Given the description of an element on the screen output the (x, y) to click on. 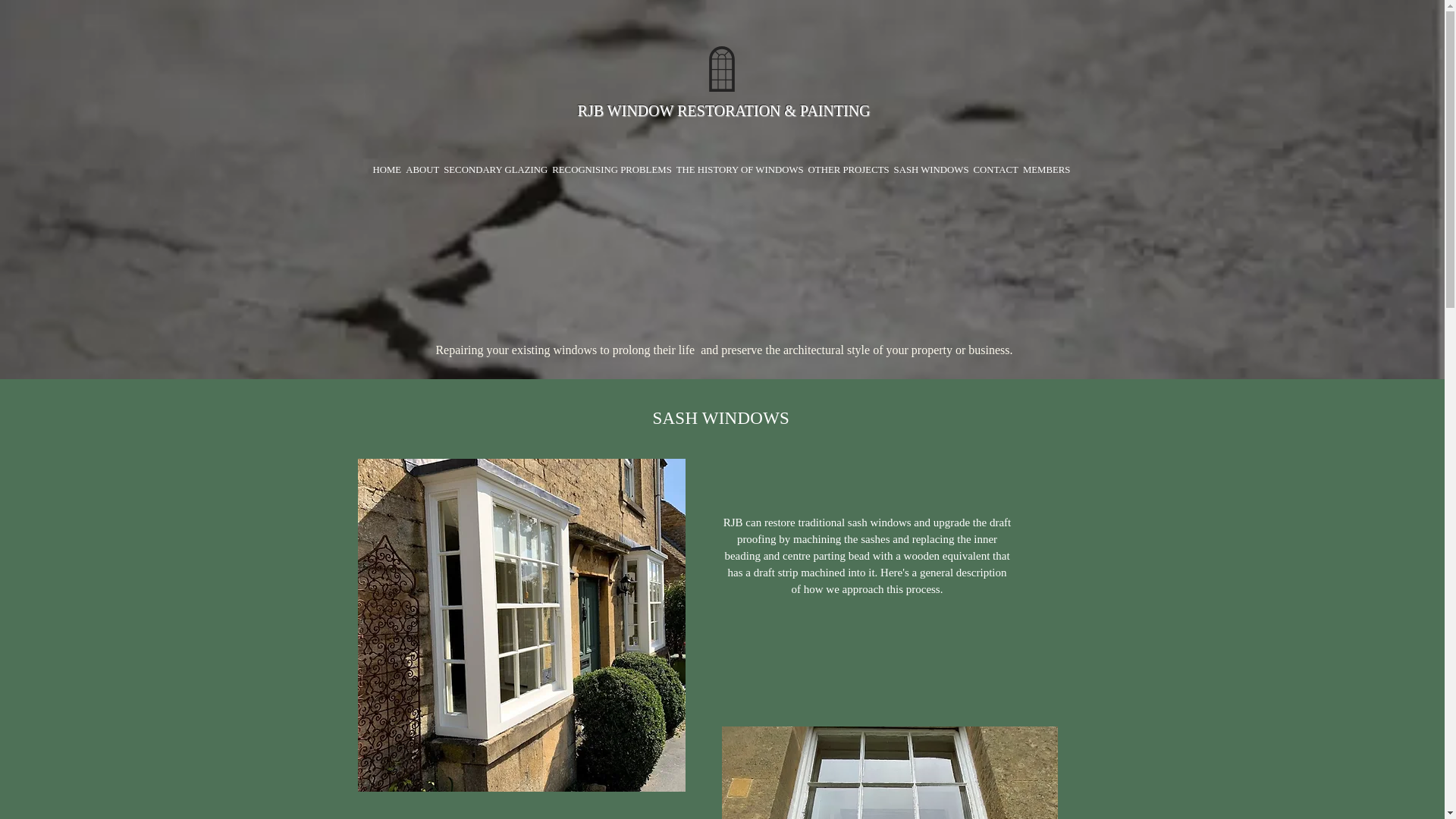
OTHER PROJECTS (848, 170)
RECOGNISING PROBLEMS (611, 170)
MEMBERS (1046, 170)
SASH WINDOWS (931, 166)
ABOUT (422, 170)
THE HISTORY OF WINDOWS (740, 170)
old damaged sash.jpg (890, 772)
CONTACT (995, 170)
HOME (386, 170)
SECONDARY GLAZING (495, 170)
